Given the description of an element on the screen output the (x, y) to click on. 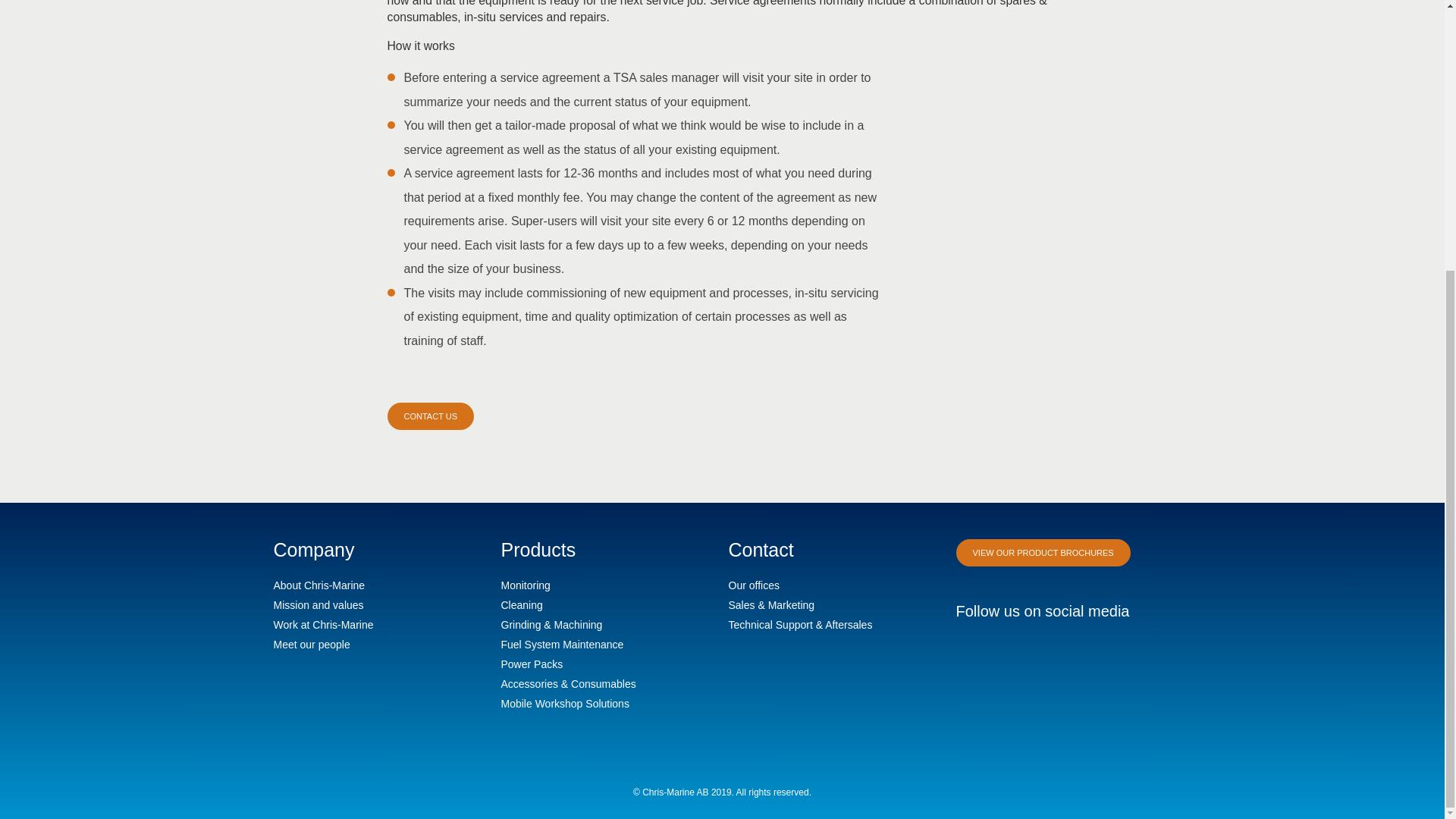
Follow us on Linkedin (966, 651)
